Given the description of an element on the screen output the (x, y) to click on. 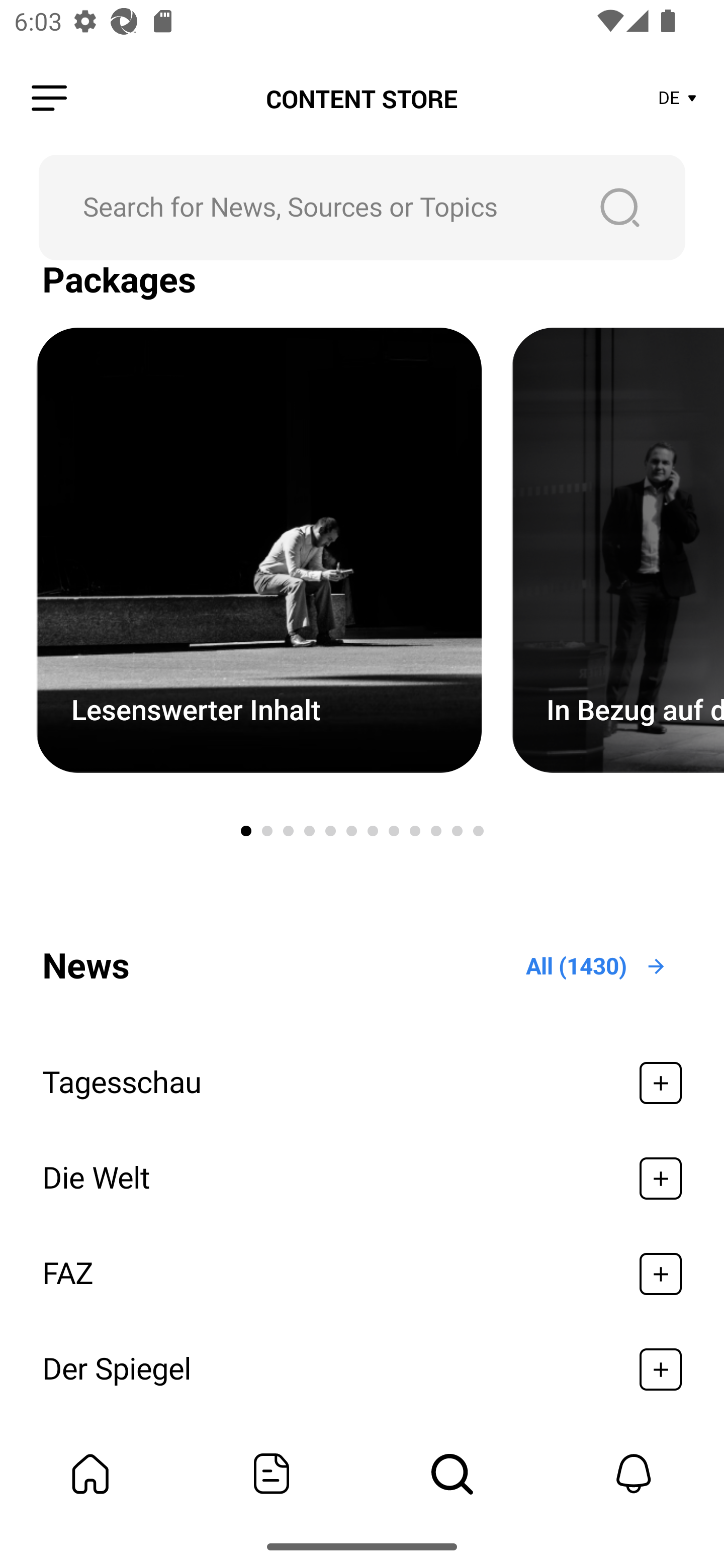
DE Store Area (677, 98)
Leading Icon (49, 98)
Search for News, Sources or Topics Search Button (361, 207)
All (1430) Open All Icon (596, 965)
Tagesschau Add To My Bundle (361, 1083)
Add To My Bundle (660, 1083)
Die Welt Add To My Bundle (361, 1178)
Add To My Bundle (660, 1178)
FAZ Add To My Bundle (361, 1273)
Add To My Bundle (660, 1273)
Der Spiegel Add To My Bundle (361, 1368)
Add To My Bundle (660, 1368)
My Bundle (90, 1473)
Featured (271, 1473)
Notifications (633, 1473)
